Given the description of an element on the screen output the (x, y) to click on. 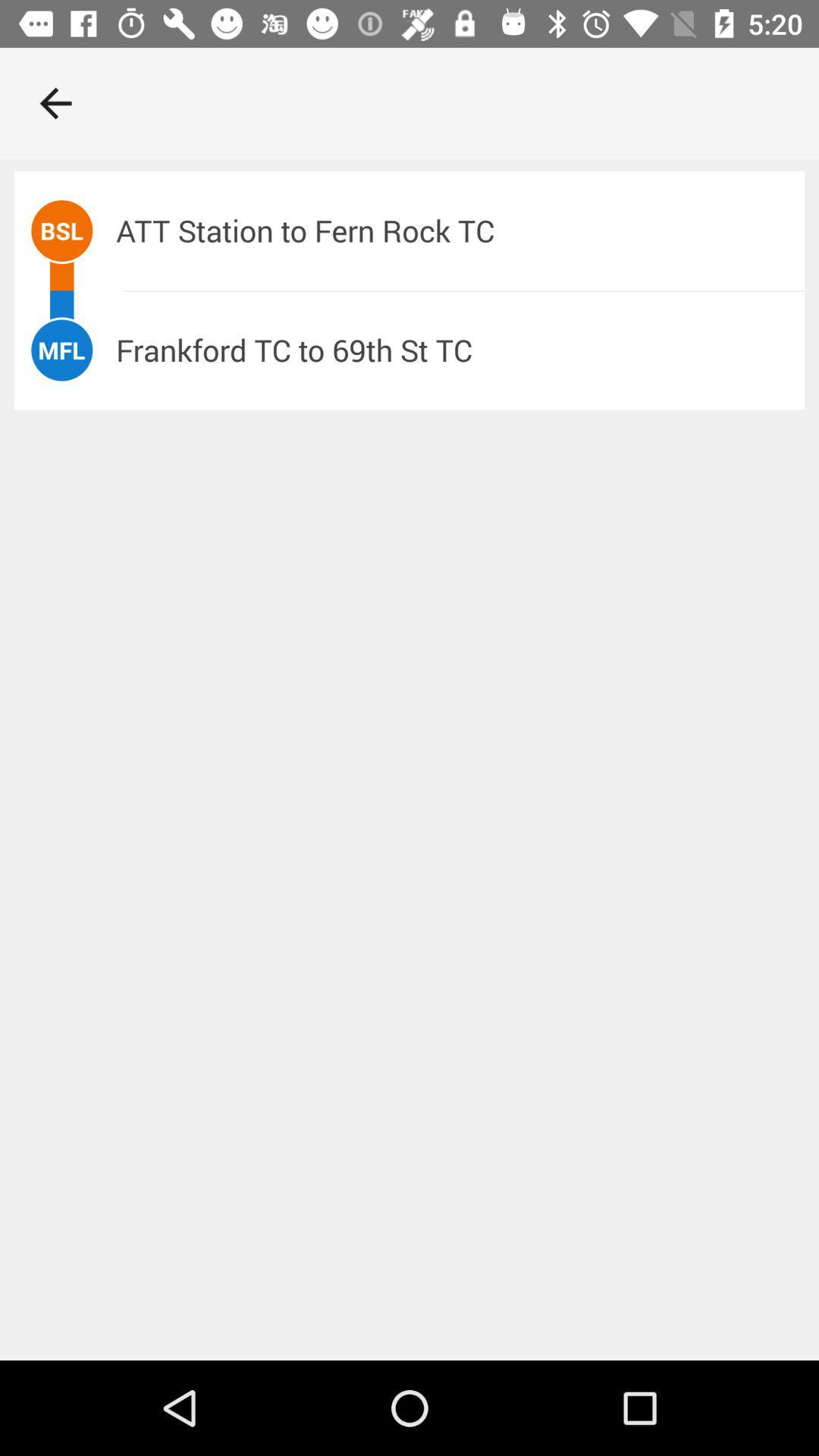
scroll until the mfl (61, 349)
